Given the description of an element on the screen output the (x, y) to click on. 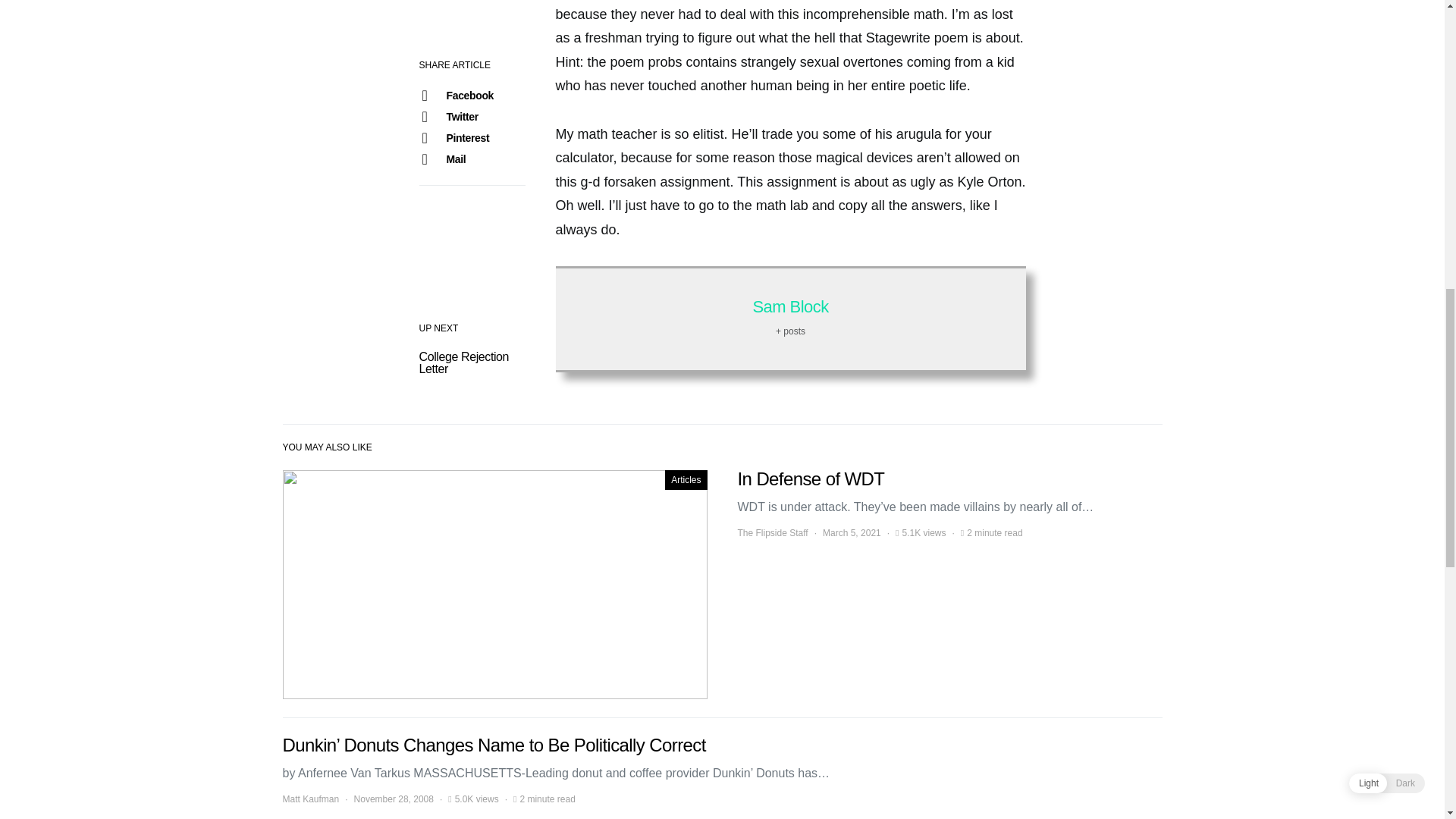
View all posts by The Flipside Staff (772, 532)
View all posts by Matt Kaufman (310, 798)
College Rejection Letter (463, 362)
Sam Block (790, 306)
